Given the description of an element on the screen output the (x, y) to click on. 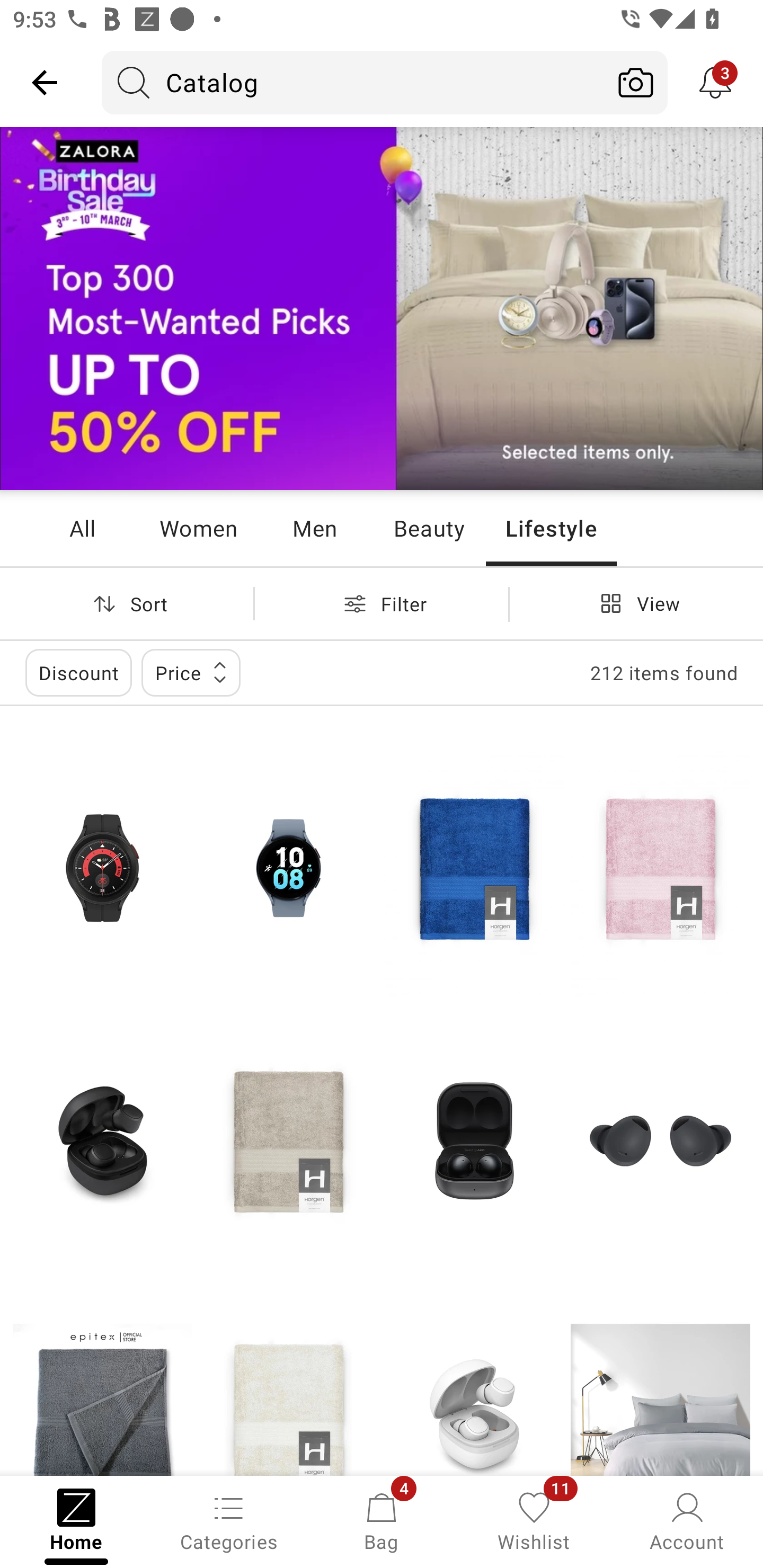
Navigate up (44, 82)
Catalog (352, 82)
All (82, 527)
Women (198, 527)
Men (314, 527)
Beauty (428, 527)
Sort (126, 603)
Filter (381, 603)
View (636, 603)
Discount (78, 672)
Price (190, 672)
Categories (228, 1519)
Bag, 4 new notifications Bag (381, 1519)
Wishlist, 11 new notifications Wishlist (533, 1519)
Account (686, 1519)
